Given the description of an element on the screen output the (x, y) to click on. 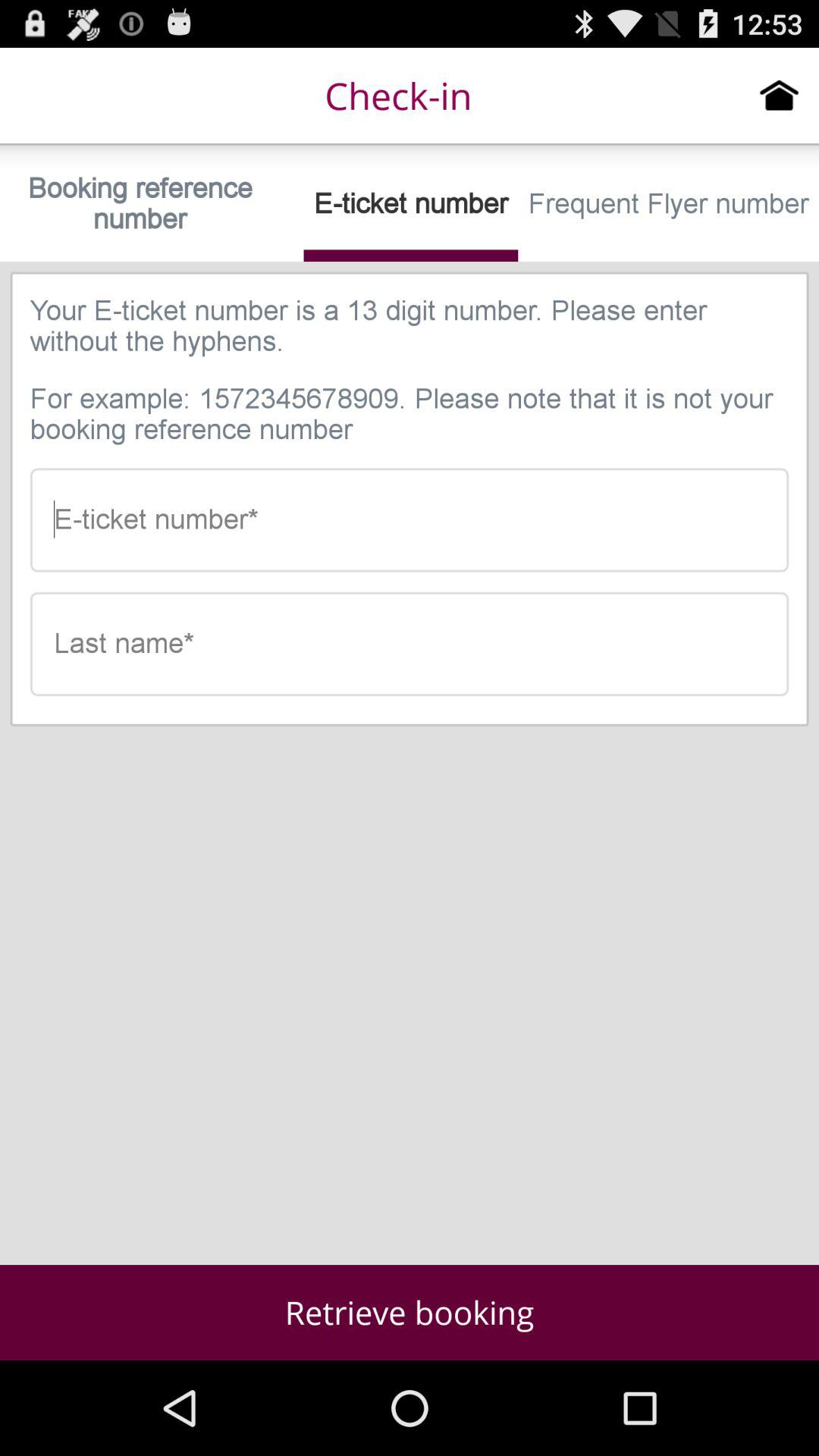
go to home screen (779, 95)
